Given the description of an element on the screen output the (x, y) to click on. 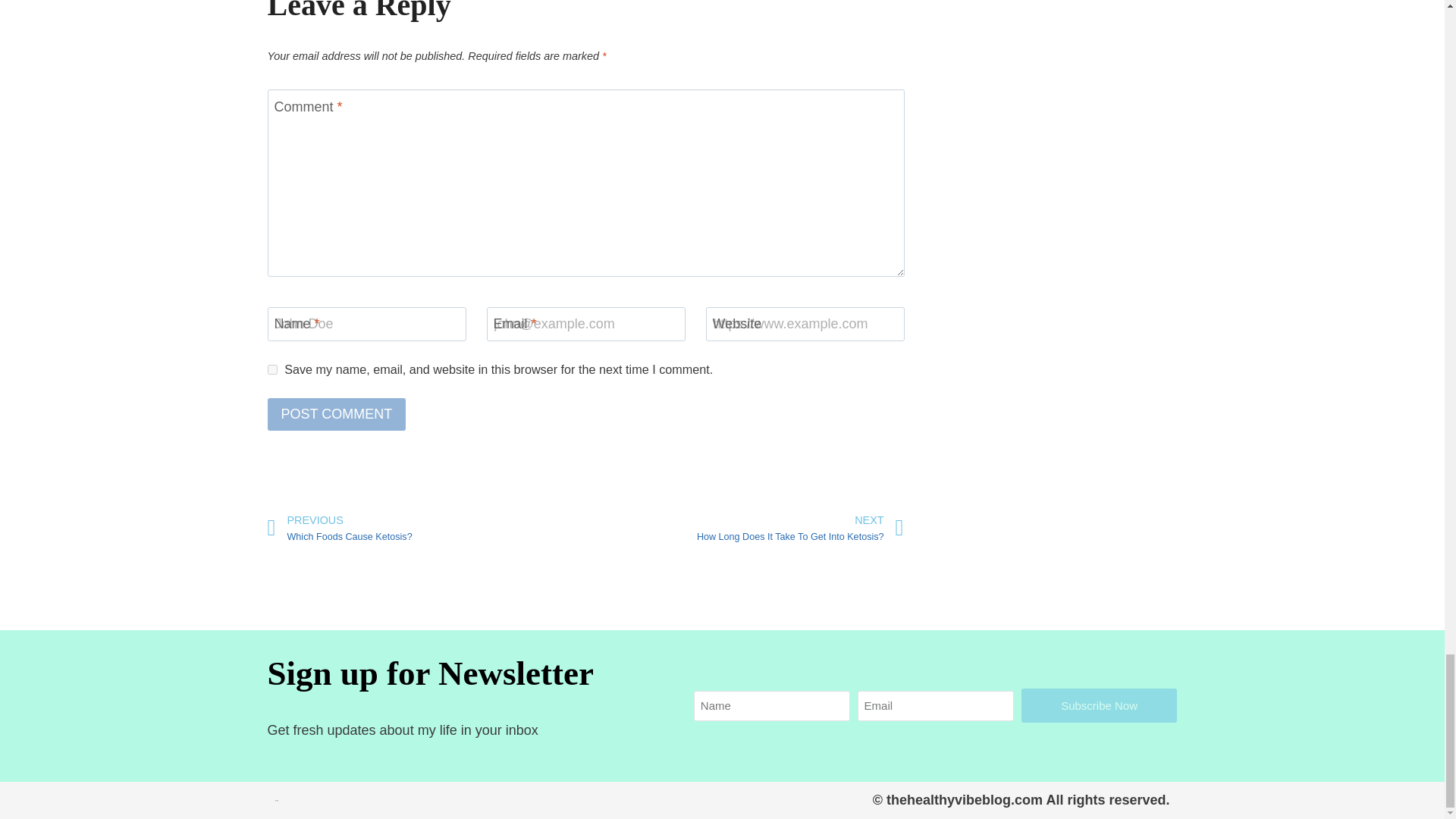
Post Comment (336, 414)
yes (744, 528)
Post Comment (425, 528)
